Given the description of an element on the screen output the (x, y) to click on. 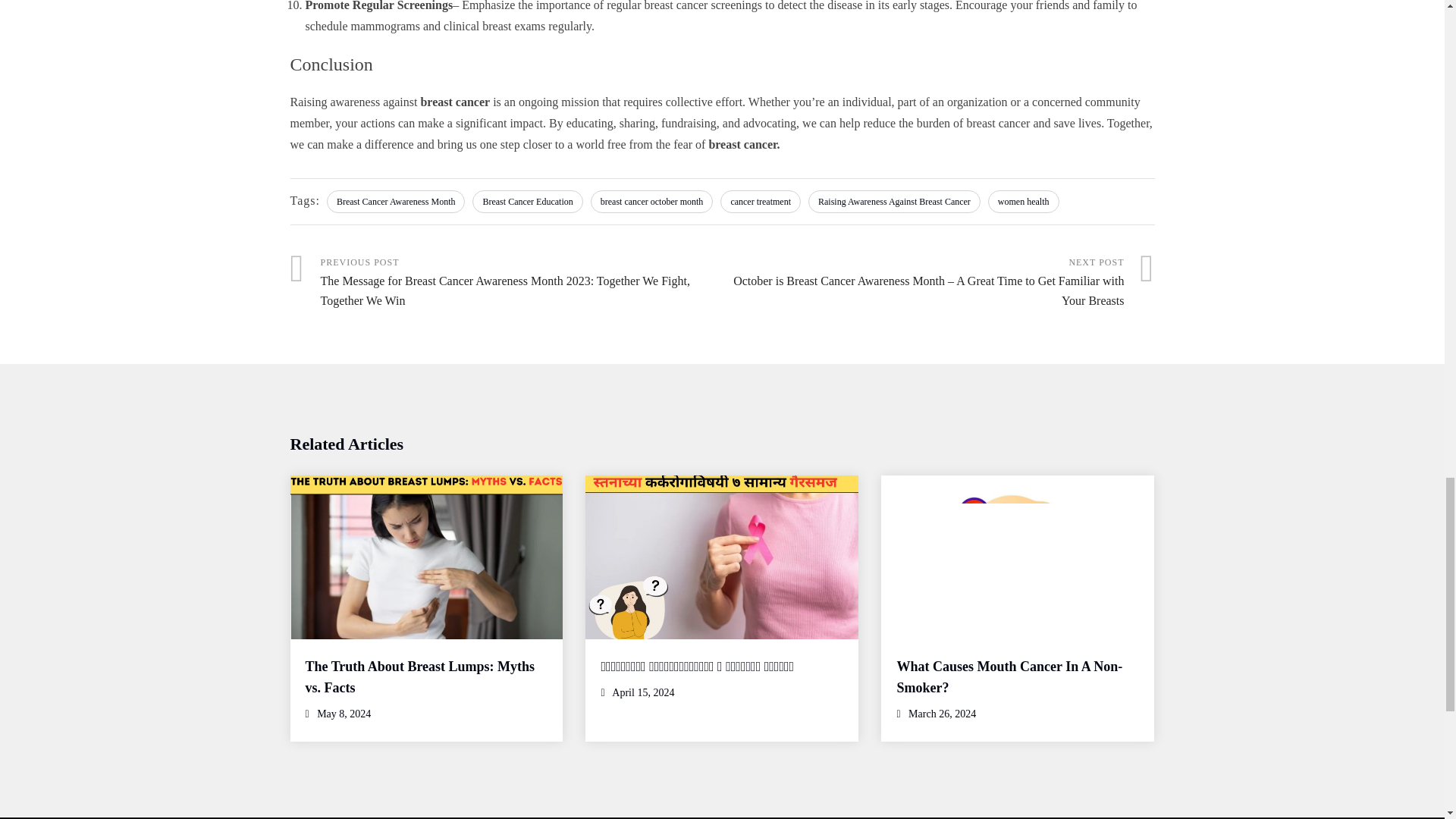
What Causes Mouth Cancer In A Non-Smoker? (1009, 677)
The Truth About Breast Lumps: Myths vs. Facts (419, 677)
